Given the description of an element on the screen output the (x, y) to click on. 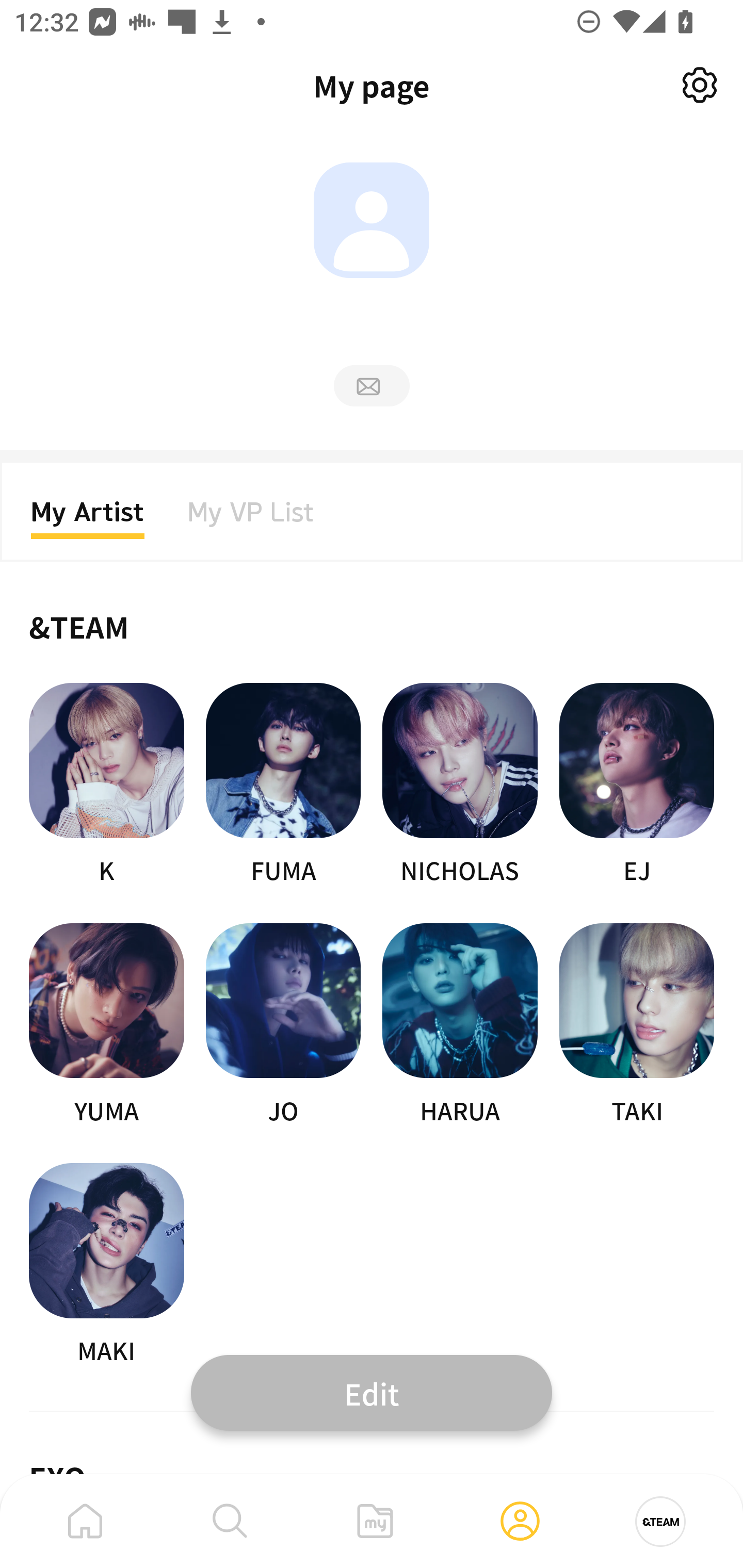
My Artist (87, 517)
My VP List (250, 517)
K (106, 785)
FUMA (282, 785)
NICHOLAS (459, 785)
EJ (636, 785)
YUMA (106, 1025)
JO (282, 1025)
HARUA (459, 1025)
TAKI (636, 1025)
MAKI (106, 1265)
Edit (371, 1392)
